Given the description of an element on the screen output the (x, y) to click on. 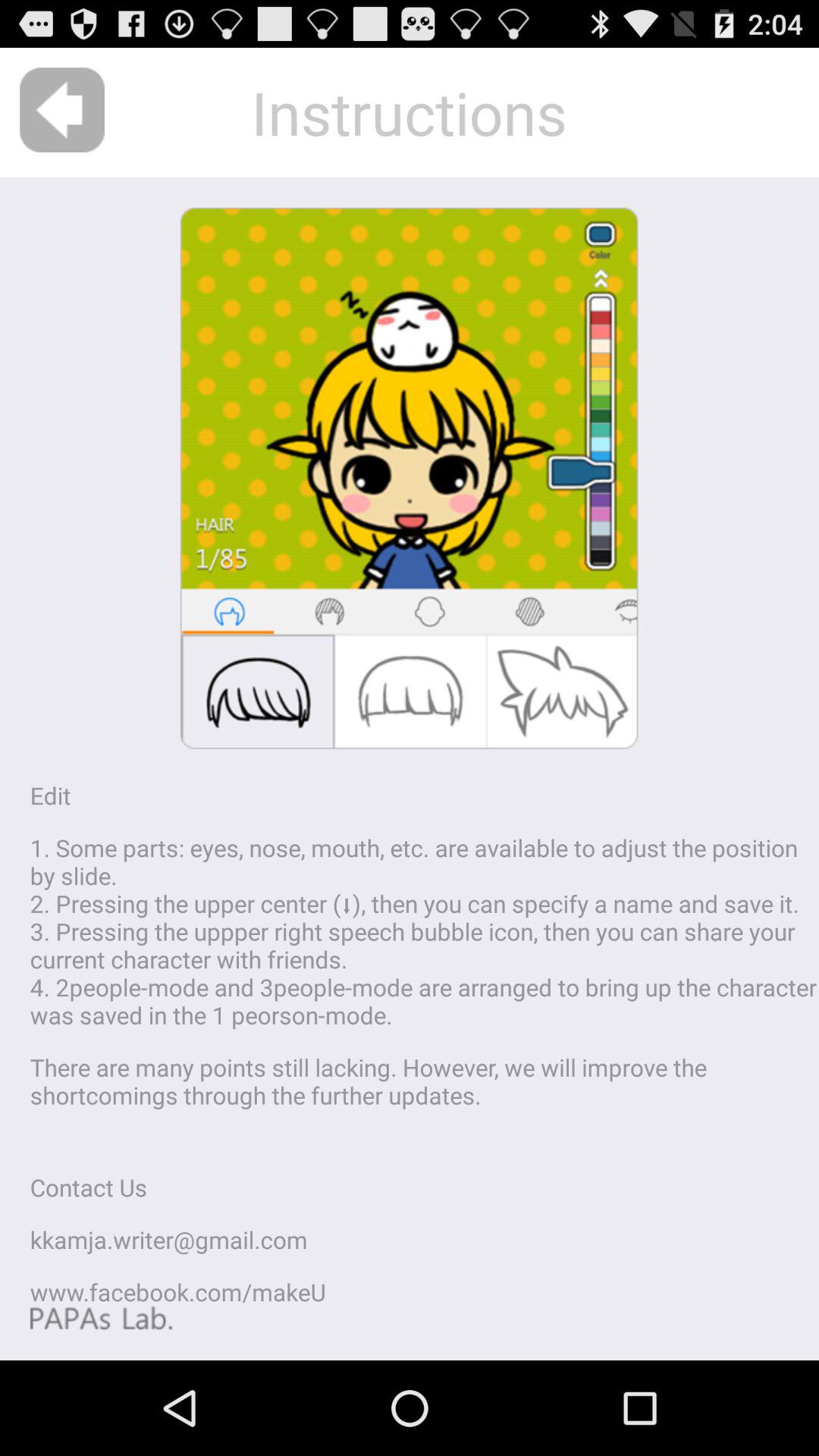
go back from instructions (61, 109)
